Given the description of an element on the screen output the (x, y) to click on. 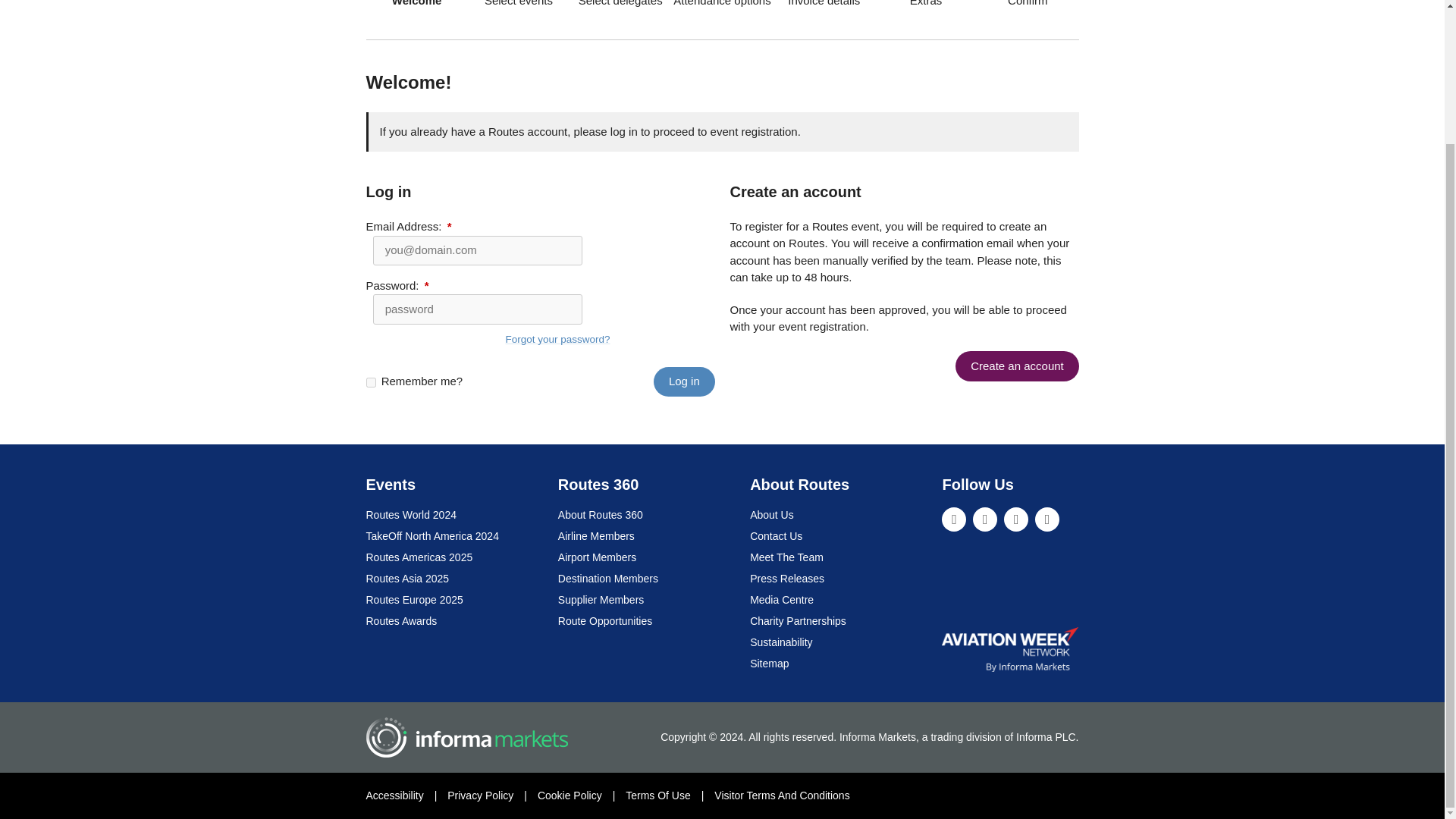
Airline Members (595, 535)
TakeOff North America 2024 (431, 535)
Terms Of Use (658, 795)
Facebook (1015, 518)
Sitemap (769, 663)
Airport Members (596, 557)
Destination Members (607, 578)
Routes Europe 2025 (414, 599)
Charity Partnerships (797, 621)
About Us (771, 514)
Forgot your password? (557, 338)
Privacy Policy (479, 795)
Route Opportunities (604, 621)
Meet The Team (786, 557)
Visitor Terms And Conditions (781, 795)
